Given the description of an element on the screen output the (x, y) to click on. 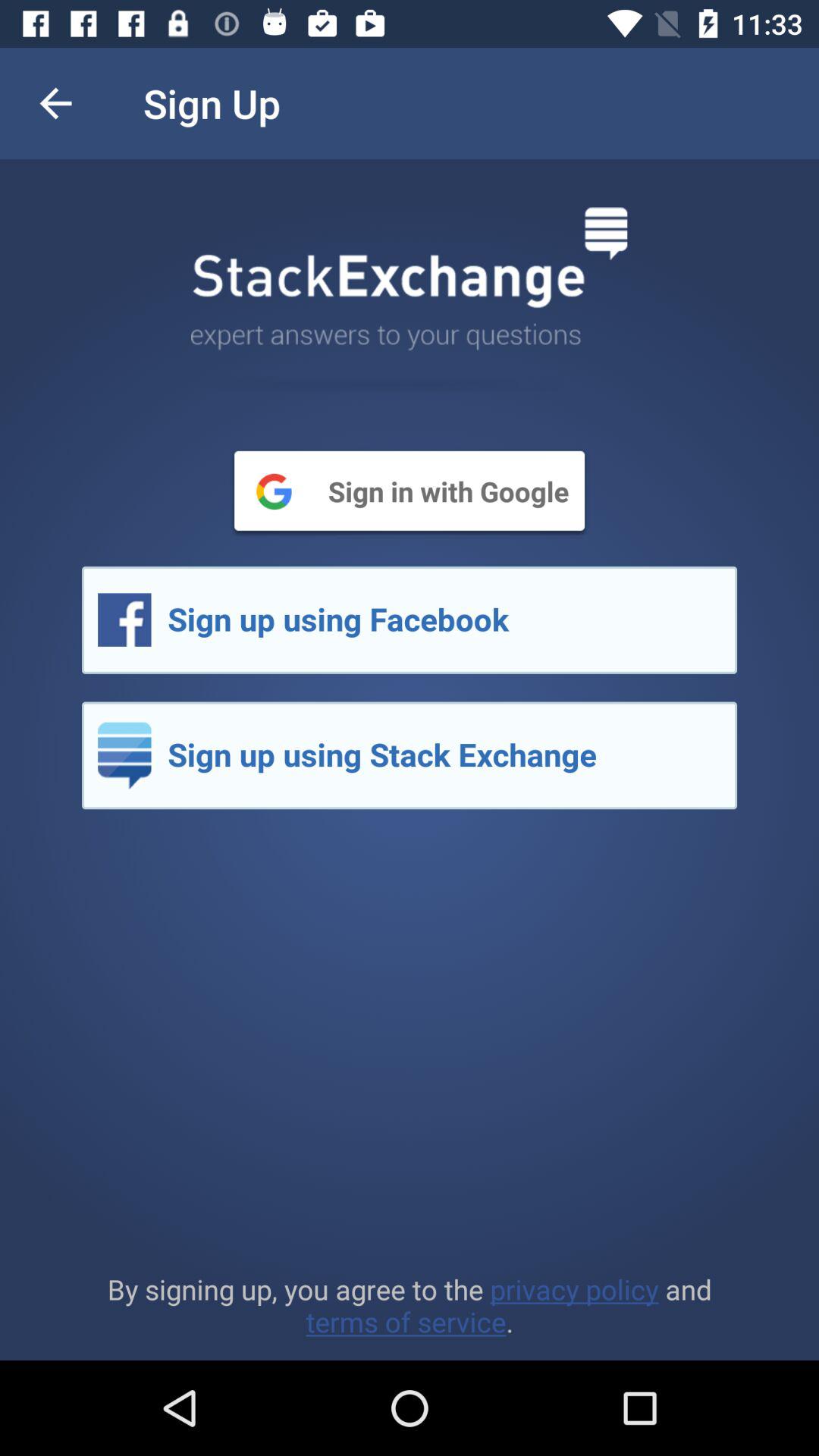
launch icon next to sign up item (55, 103)
